Given the description of an element on the screen output the (x, y) to click on. 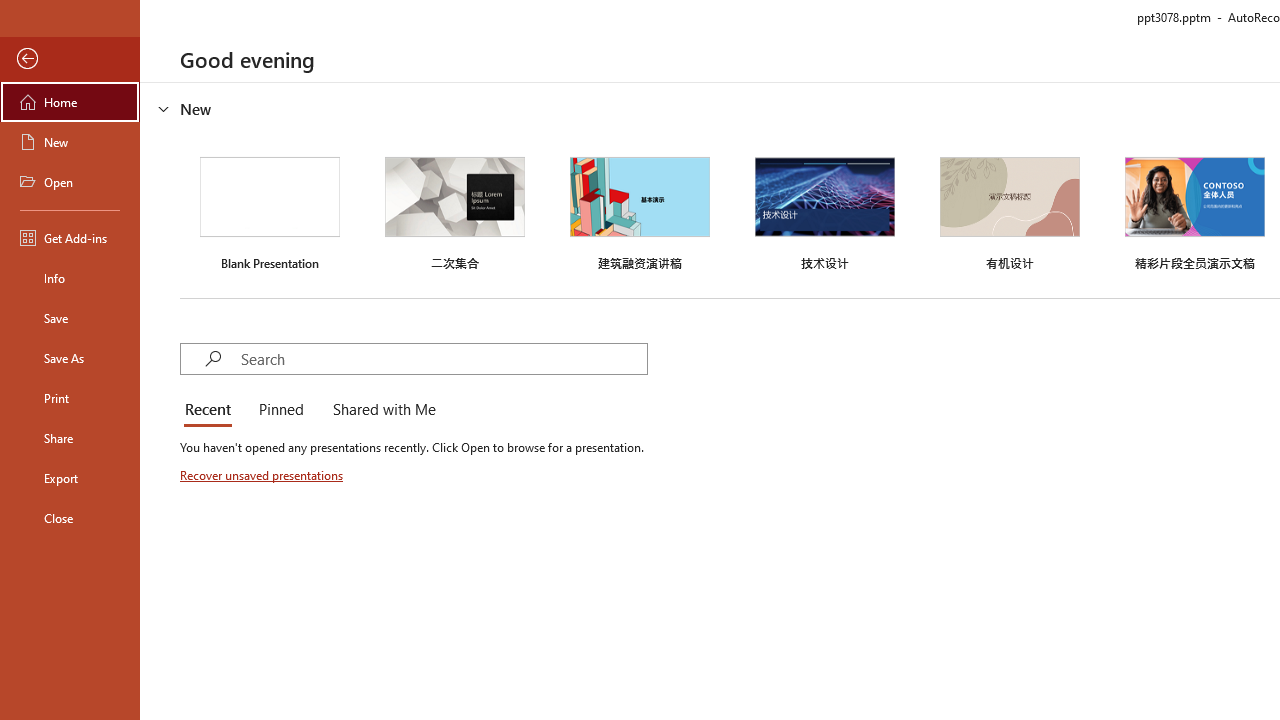
wangyian_webcrawler - DSW (42, 439)
Add Port (645, 588)
Application Menu (135, 322)
Views and More Actions... (442, 321)
Run and Debug (Ctrl+Shift+D) (135, 622)
Explorer (Ctrl+Shift+E) (135, 388)
